Given the description of an element on the screen output the (x, y) to click on. 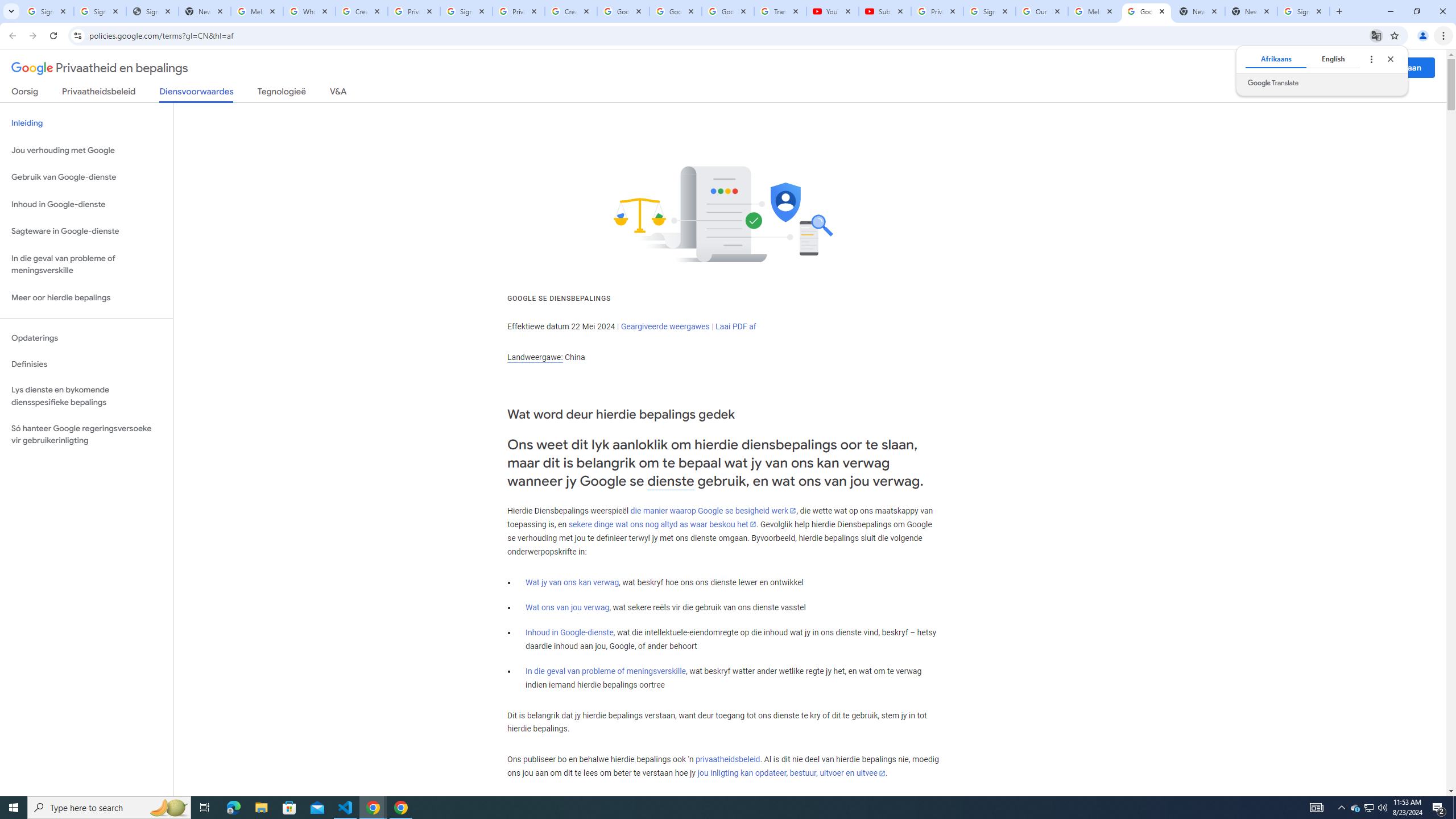
Definisies (86, 363)
jou inligting kan opdateer, bestuur, uitvoer en uitvee (791, 773)
Sign in - Google Accounts (47, 11)
die manier waarop Google se besigheid werk (713, 510)
Laai PDF af (735, 326)
Sign in - Google Accounts (99, 11)
dienste (670, 480)
Oorsig (25, 93)
Sign In - USA TODAY (151, 11)
Gebruik van Google-dienste (86, 176)
